Given the description of an element on the screen output the (x, y) to click on. 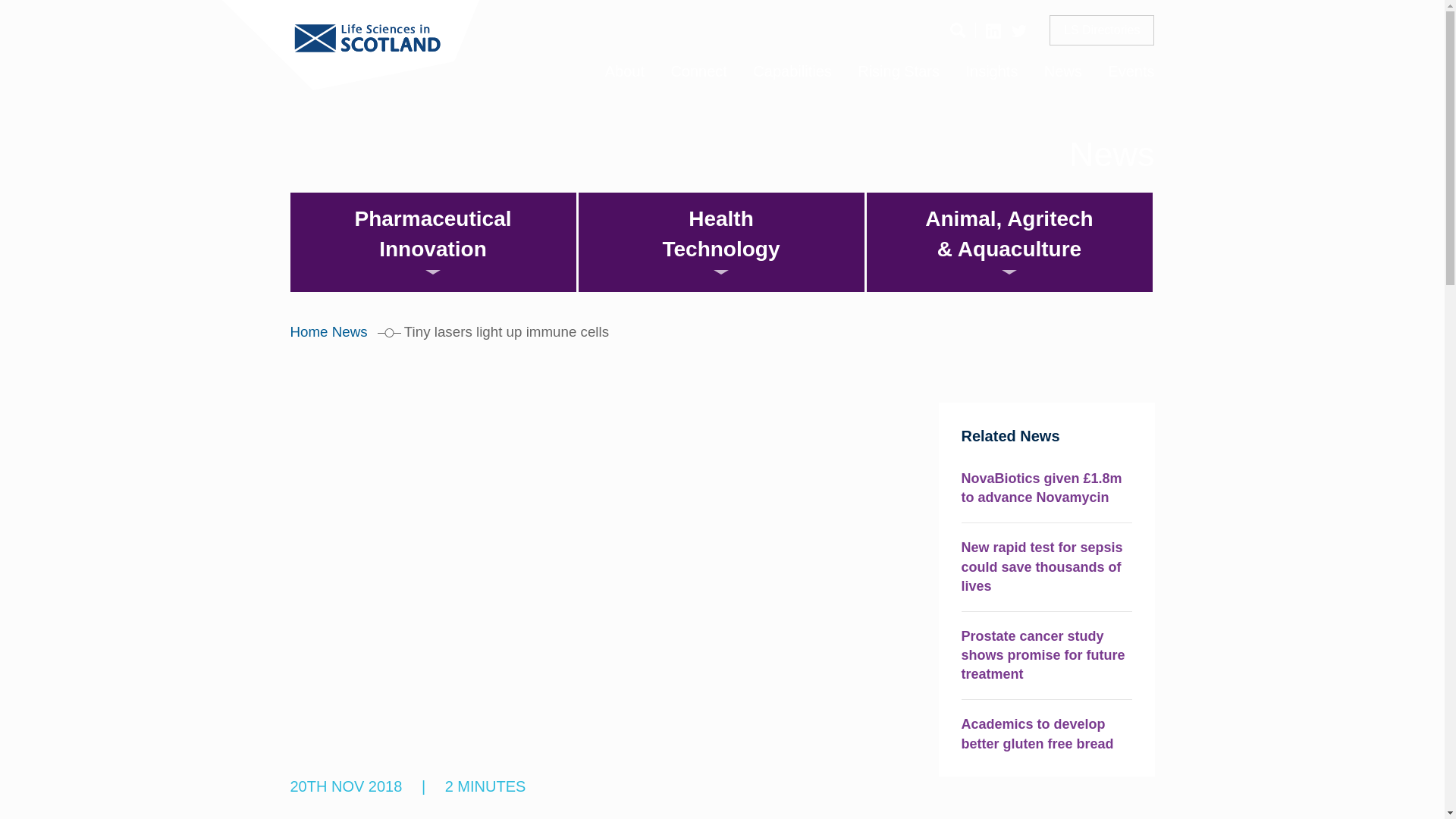
Capabilities (791, 71)
News (1062, 71)
About (625, 71)
Connect (697, 71)
Health Technology (720, 241)
Rising Stars (898, 71)
Events (1131, 71)
Insights (991, 71)
Pharmaceutical Innovation (432, 241)
LS Directories (1101, 30)
